Given the description of an element on the screen output the (x, y) to click on. 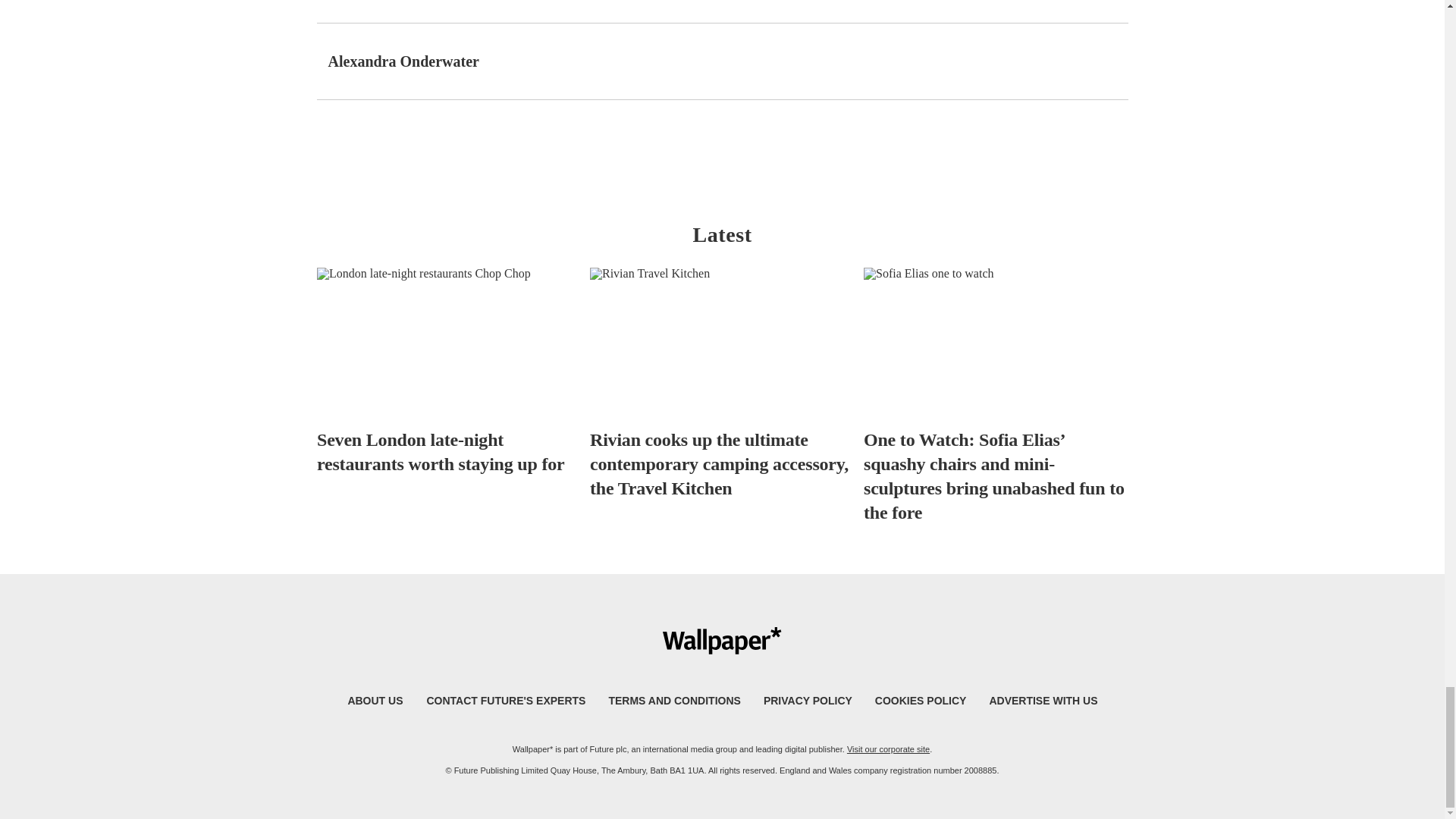
Alexandra Onderwater (403, 61)
Seven London late-night restaurants worth staying up for (448, 371)
